Given the description of an element on the screen output the (x, y) to click on. 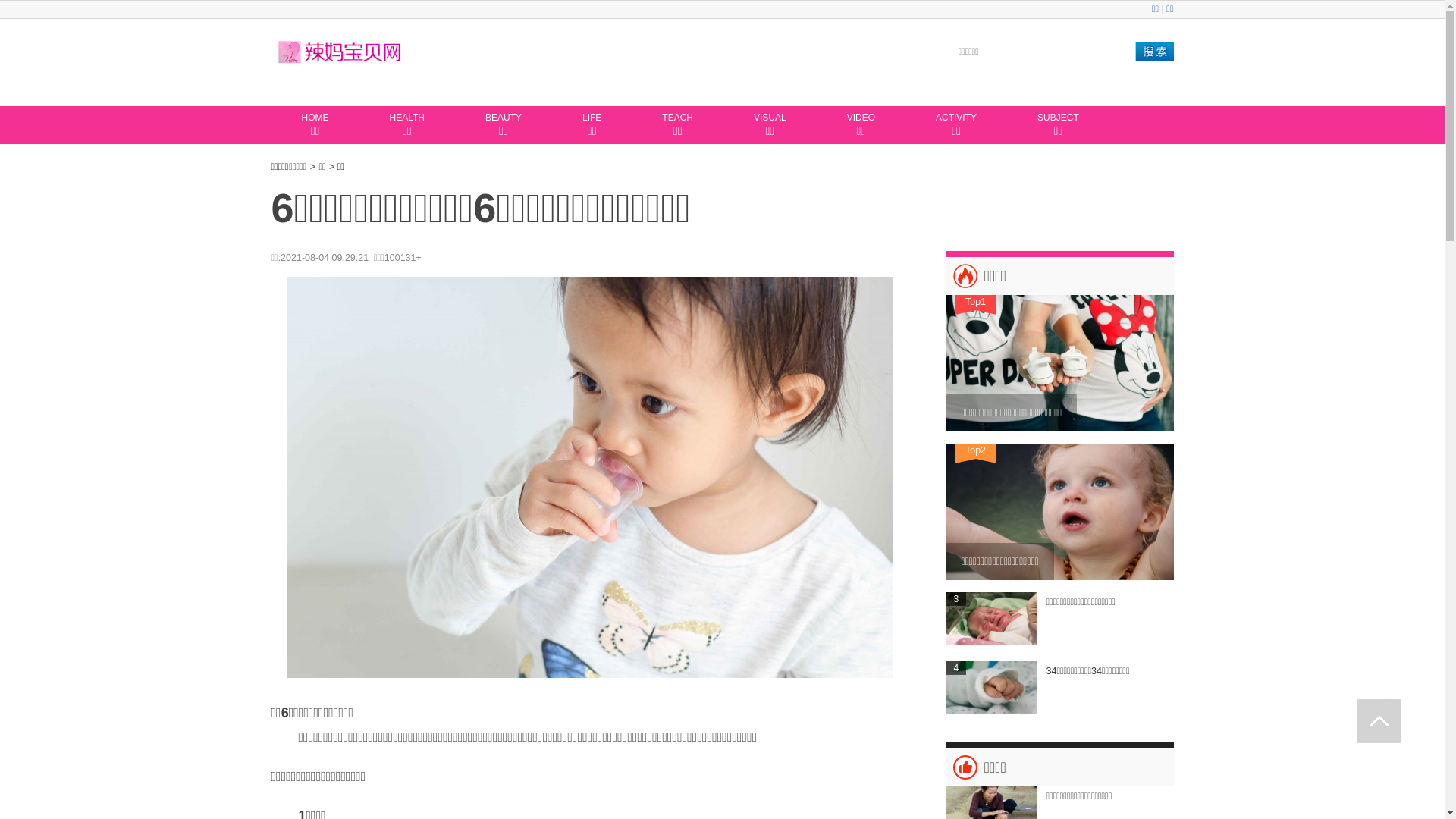
  Element type: text (1379, 721)
